Given the description of an element on the screen output the (x, y) to click on. 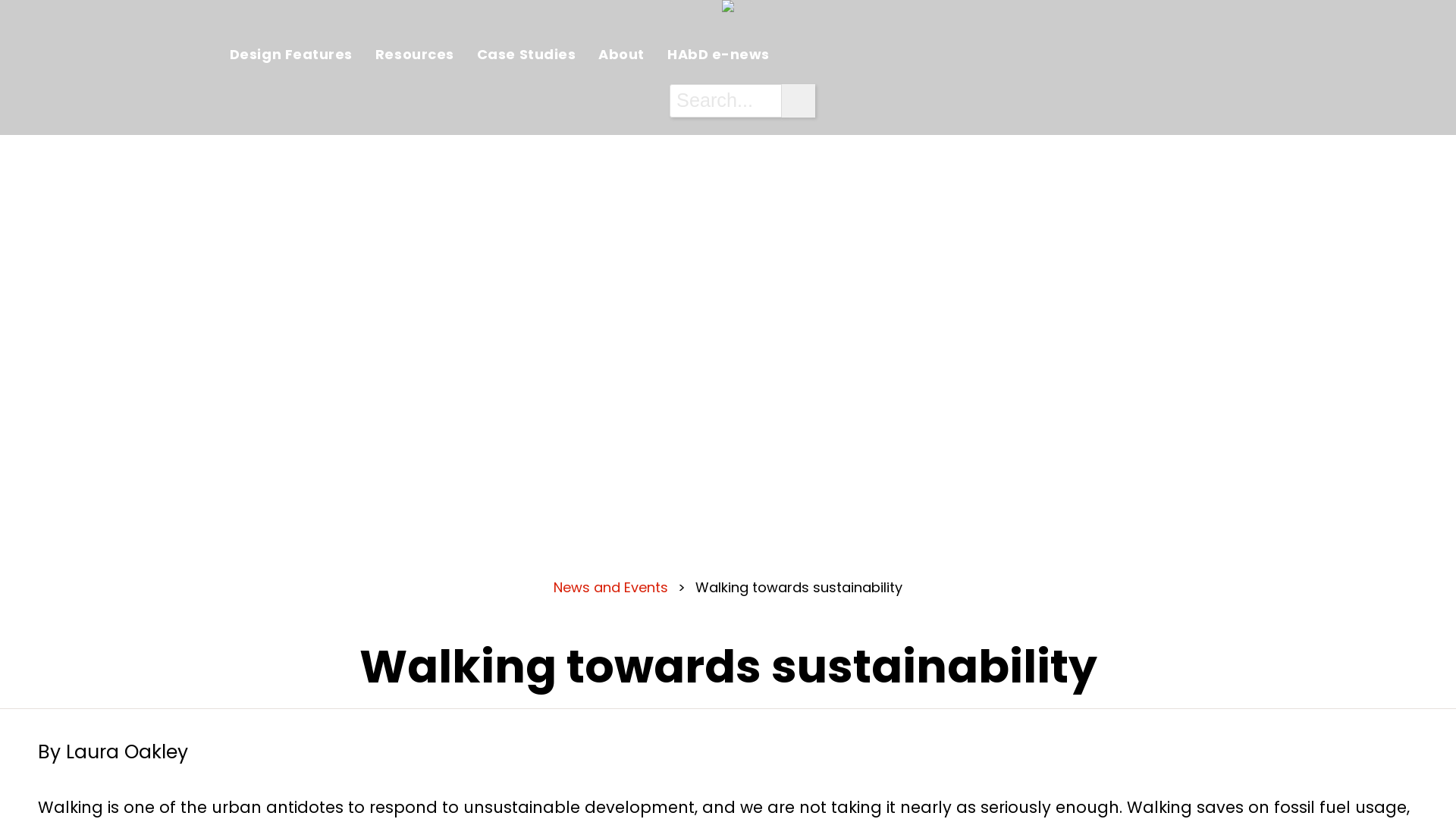
News and Events Element type: text (610, 586)
Design Features Element type: text (291, 54)
Case Studies Element type: text (525, 54)
Resources Element type: text (414, 54)
HAbD e-news Element type: text (718, 54)
About Element type: text (620, 54)
